Given the description of an element on the screen output the (x, y) to click on. 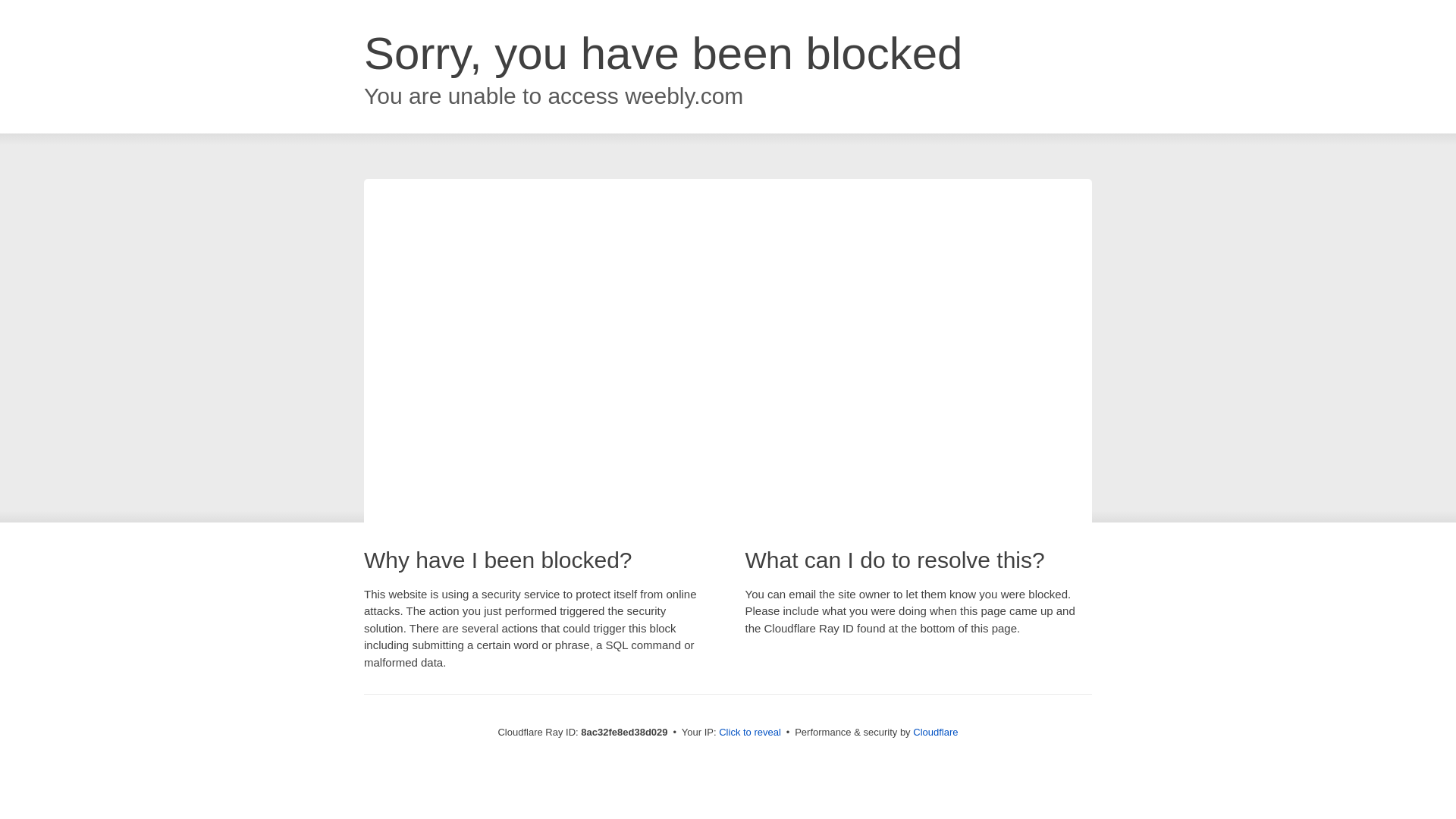
Cloudflare (935, 731)
Click to reveal (749, 732)
